Given the description of an element on the screen output the (x, y) to click on. 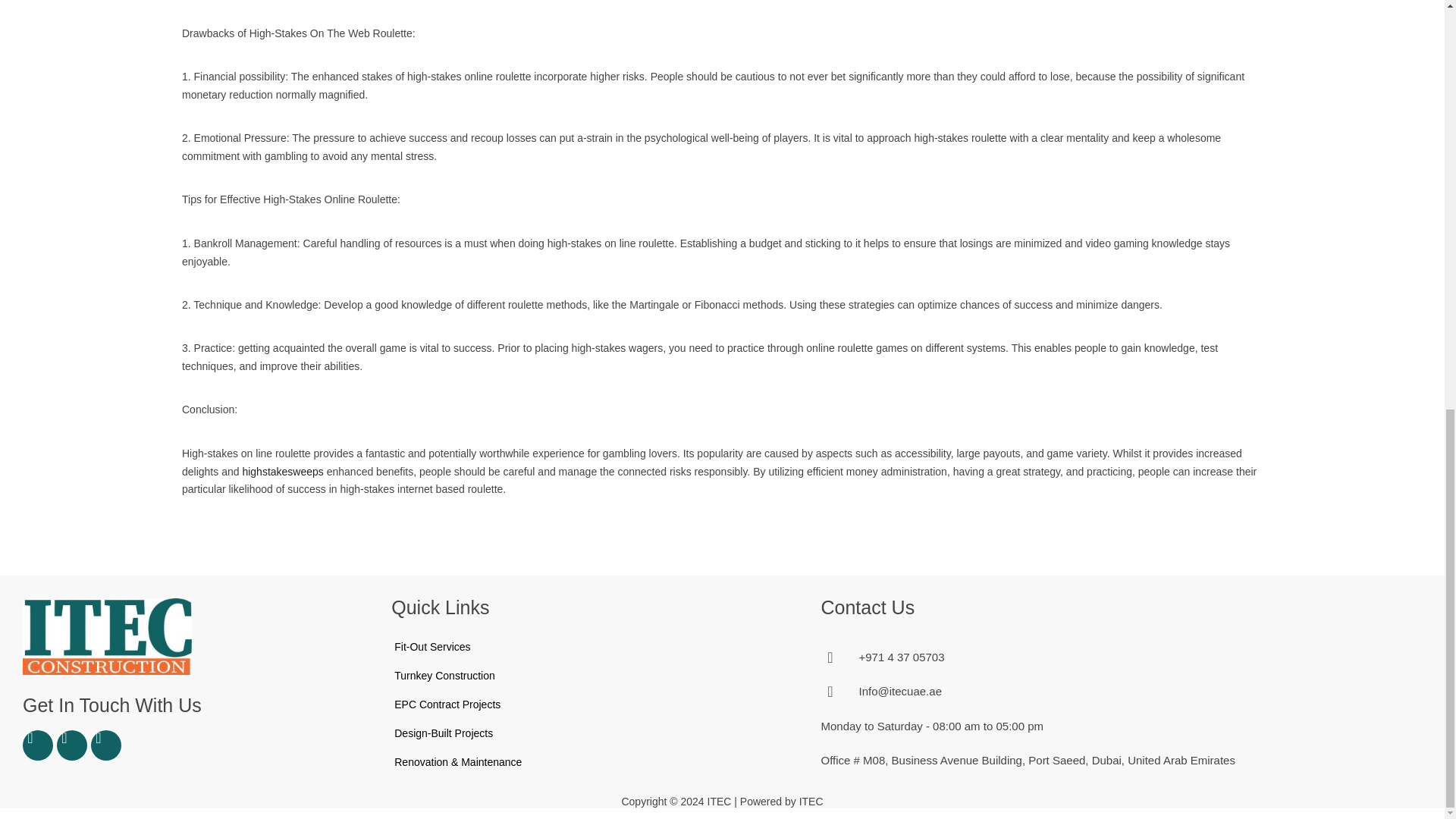
Design-Built Projects (443, 733)
Turnkey Construction (444, 675)
highstakesweeps (282, 471)
Fit-Out Services (431, 646)
EPC Contract Projects (446, 704)
